Given the description of an element on the screen output the (x, y) to click on. 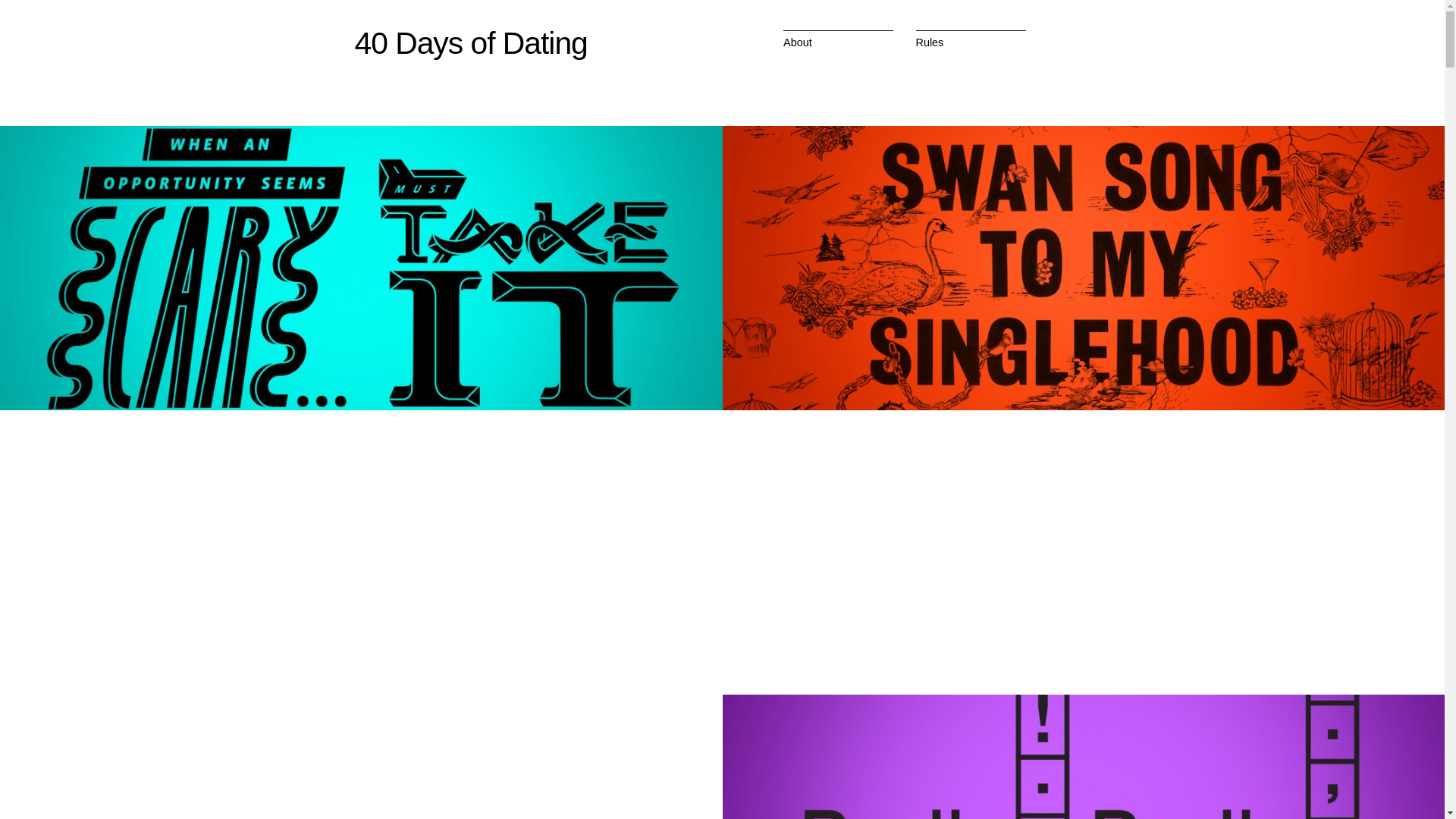
Rules (929, 42)
40 Days of Dating (471, 42)
About (797, 42)
